Given the description of an element on the screen output the (x, y) to click on. 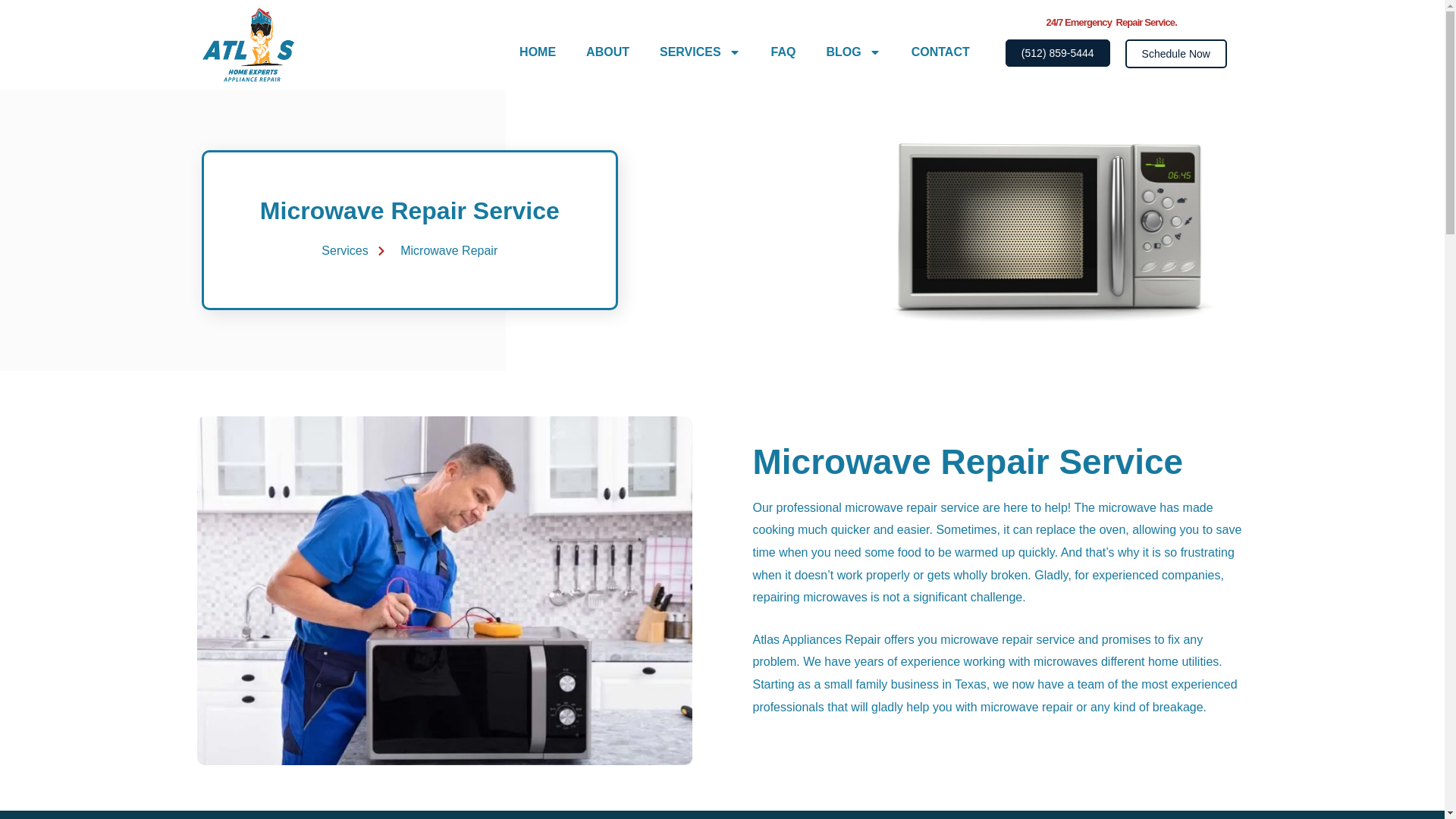
CONTACT (940, 51)
SERVICES (700, 51)
HOME (536, 51)
BLOG (853, 51)
FAQ (782, 51)
ABOUT (607, 51)
